Given the description of an element on the screen output the (x, y) to click on. 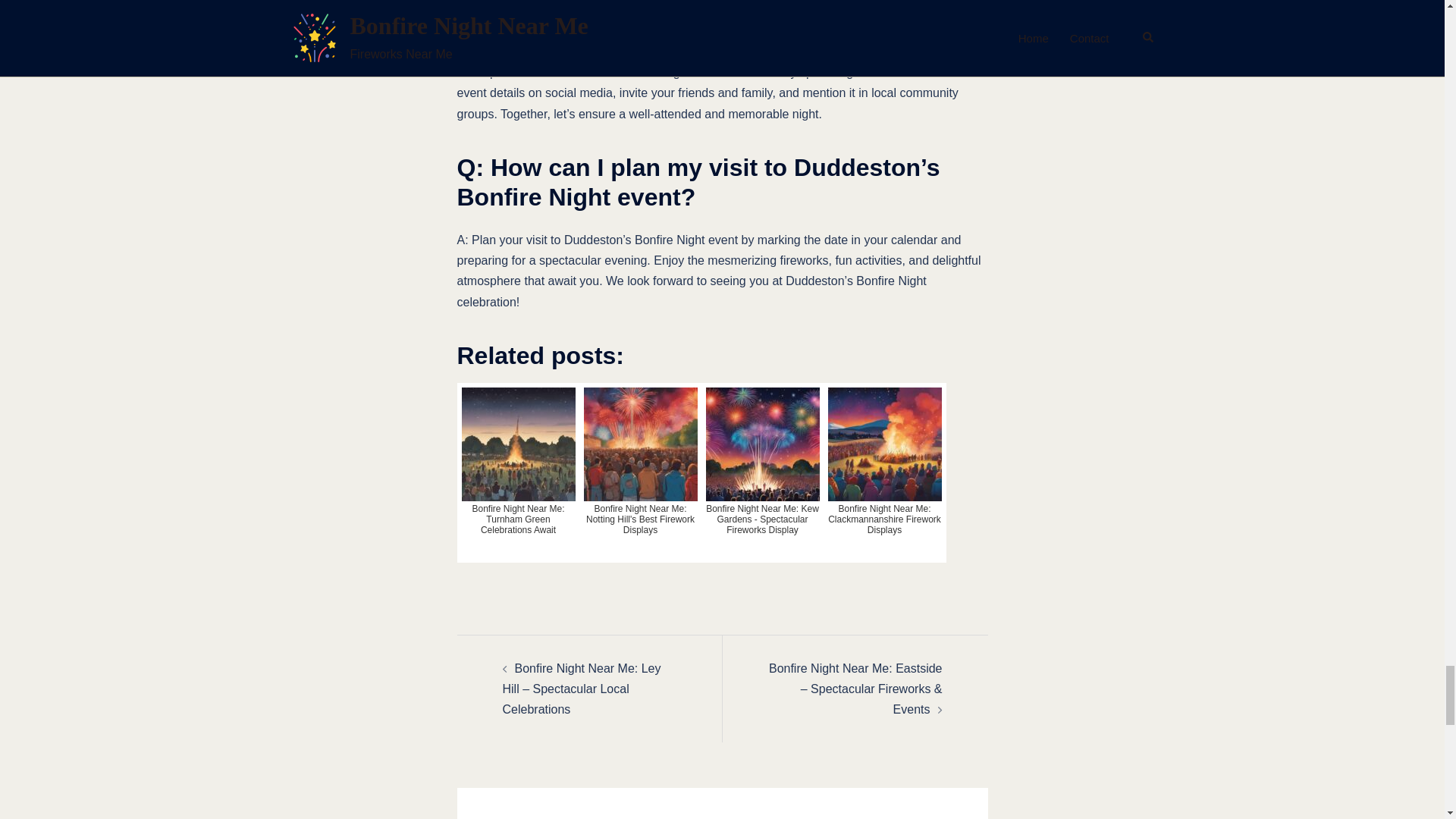
Bonfire Night Near Me: Notting Hill's Best Firework Displays (640, 472)
Bonfire Night Near Me: Clackmannanshire Firework Displays (885, 472)
Bonfire Night Near Me: Turnham Green Celebrations Await (518, 472)
